Given the description of an element on the screen output the (x, y) to click on. 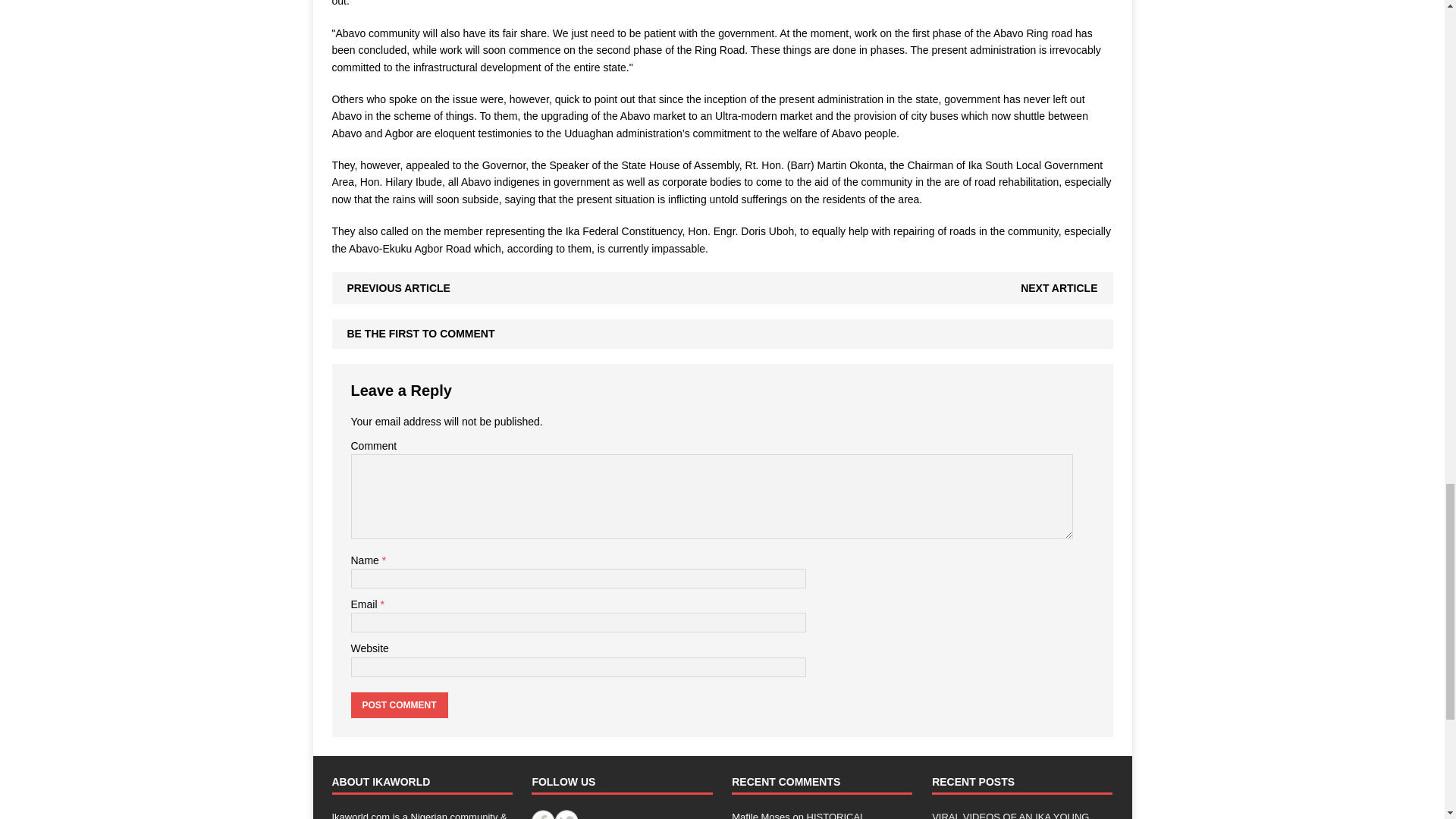
NEXT ARTICLE (1058, 287)
HISTORICAL ANALYSIS OF IDUMUESAH CLAN (809, 815)
Post Comment (398, 705)
Post Comment (398, 705)
PREVIOUS ARTICLE (398, 287)
